Given the description of an element on the screen output the (x, y) to click on. 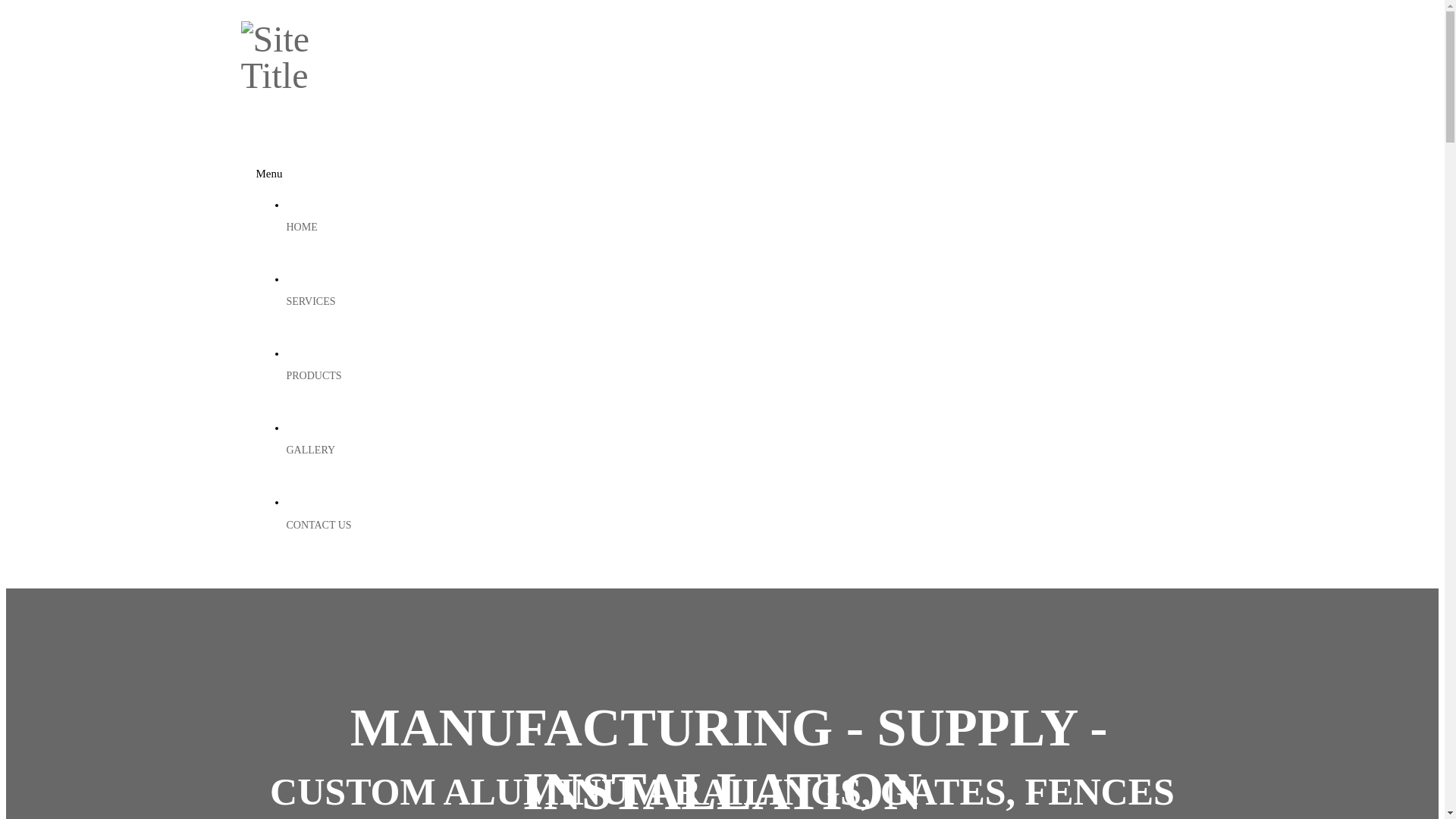
CONTACT US Element type: text (745, 523)
SERVICES Element type: text (745, 301)
GALLERY Element type: text (745, 449)
Go to site home page Element type: hover (297, 57)
HOME Element type: text (745, 226)
PRODUCTS Element type: text (745, 375)
Go to site home page Element type: hover (297, 75)
